Given the description of an element on the screen output the (x, y) to click on. 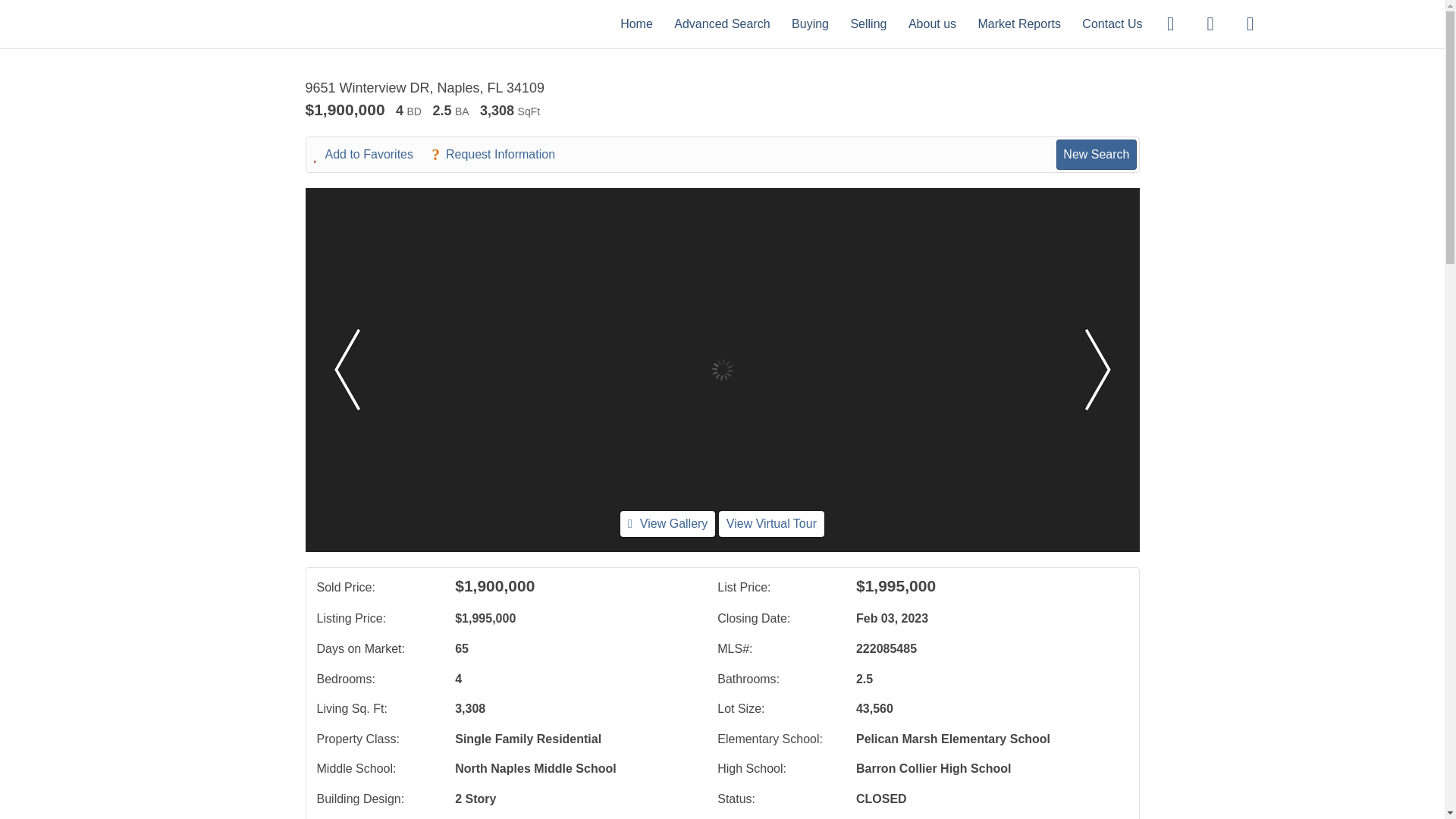
Add to Favorites (371, 154)
Home (636, 23)
View Virtual Tour (771, 522)
View Gallery (667, 522)
New Search (1096, 154)
Selling (868, 23)
View Virtual Tour (771, 524)
Buying (810, 23)
About us (932, 23)
Contact Us (1111, 23)
View Gallery (667, 524)
Market Reports (1019, 23)
Request Information (500, 154)
Advanced Search (722, 23)
